Given the description of an element on the screen output the (x, y) to click on. 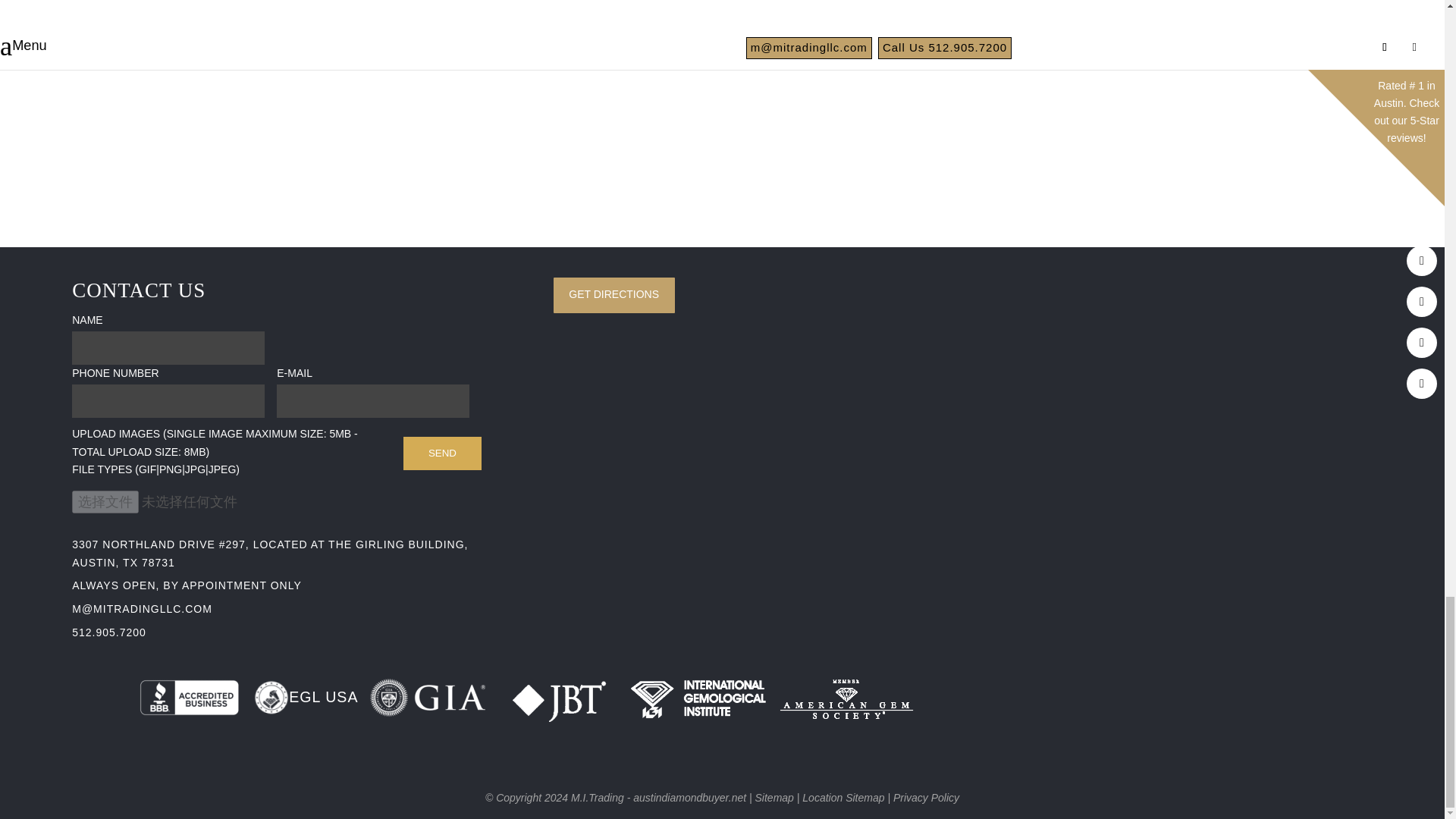
EGL USA (305, 697)
Send (442, 453)
GET DIRECTIONS (614, 294)
Send (442, 453)
M.I.Trading - austindiamondbuyer.net (657, 797)
512.905.7200 (109, 632)
